Given the description of an element on the screen output the (x, y) to click on. 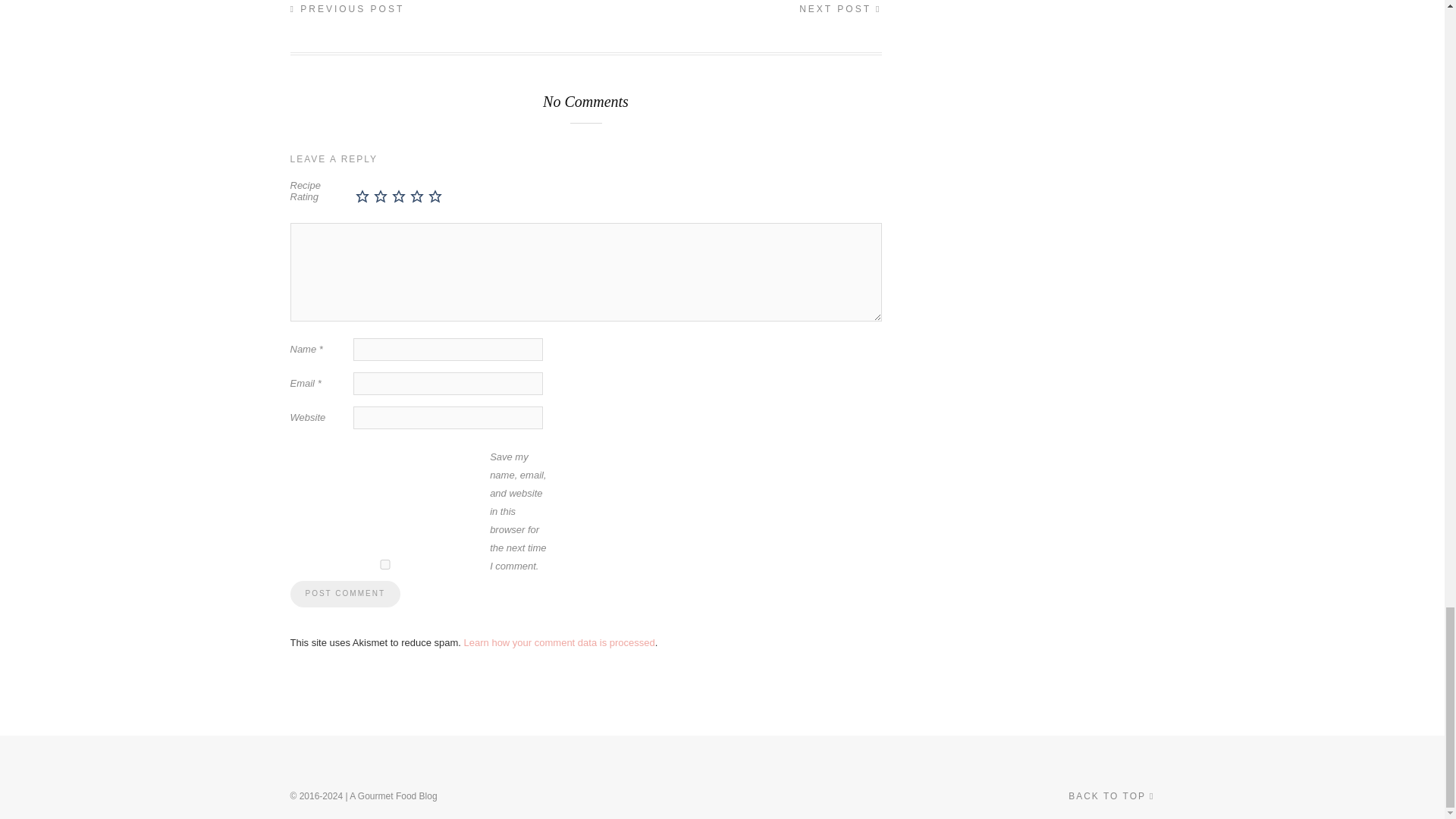
Post Comment (343, 593)
yes (384, 564)
